Given the description of an element on the screen output the (x, y) to click on. 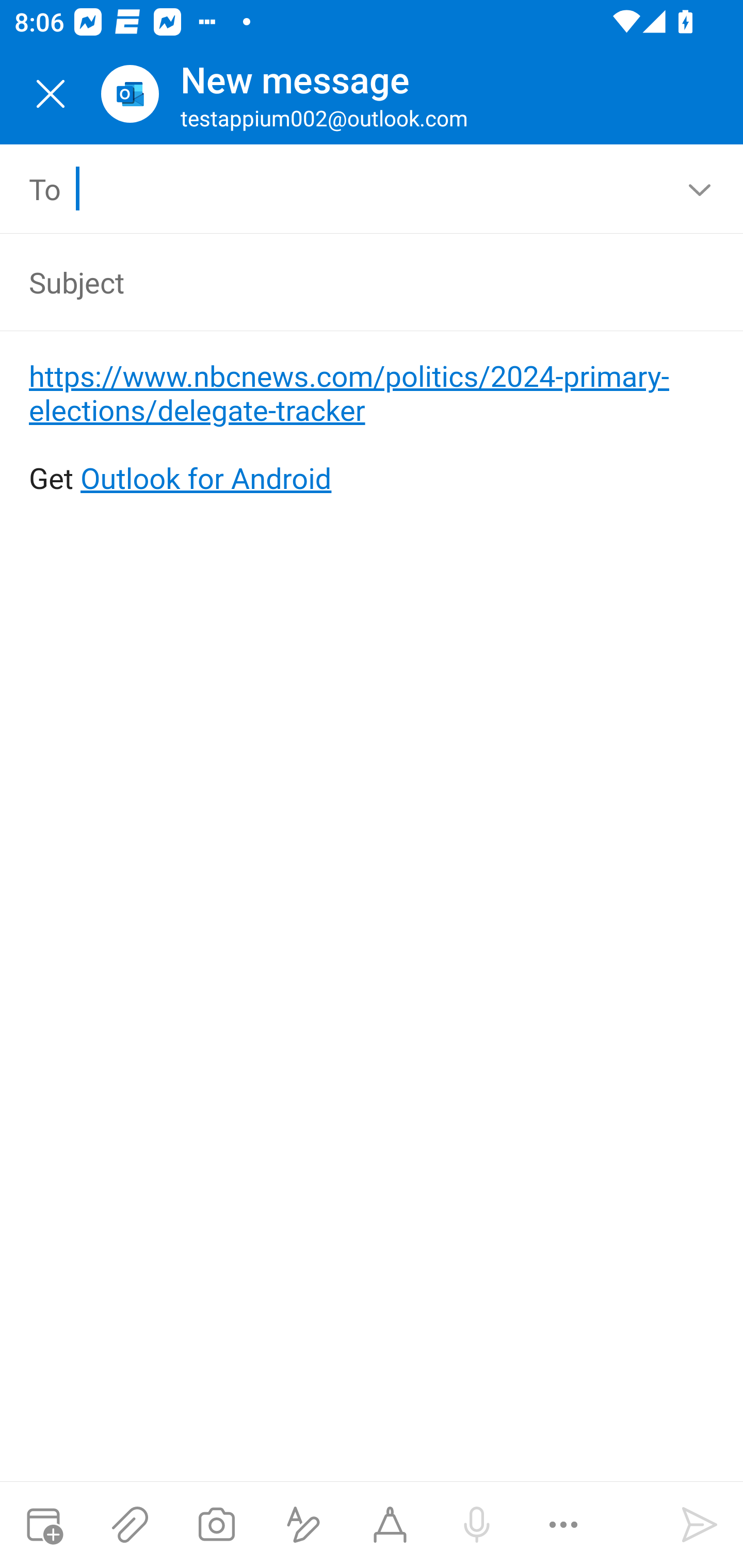
Close (50, 93)
Subject (342, 281)
Attach meeting (43, 1524)
Attach files (129, 1524)
Take a photo (216, 1524)
Show formatting options (303, 1524)
Start Ink compose (389, 1524)
More options (563, 1524)
Send (699, 1524)
